Given the description of an element on the screen output the (x, y) to click on. 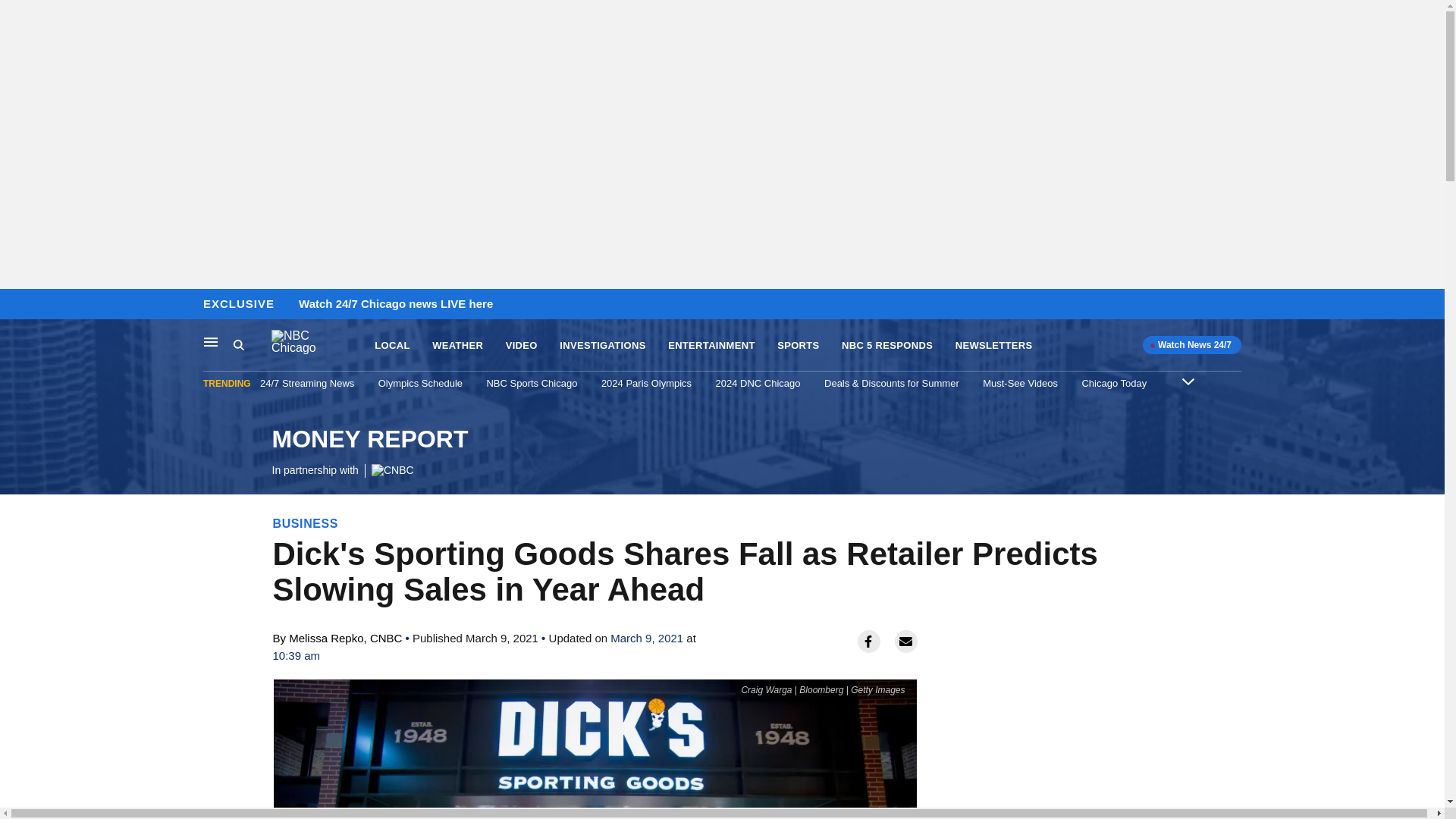
NBC 5 RESPONDS (887, 345)
BUSINESS (306, 523)
Must-See Videos (1020, 383)
Olympics Schedule (368, 452)
SPORTS (420, 383)
Search (797, 345)
Chicago Today (238, 344)
2024 DNC Chicago (1114, 383)
Skip to content (758, 383)
Search (16, 304)
Expand (252, 345)
Main Navigation (1187, 381)
VIDEO (210, 341)
WEATHER (521, 345)
